Given the description of an element on the screen output the (x, y) to click on. 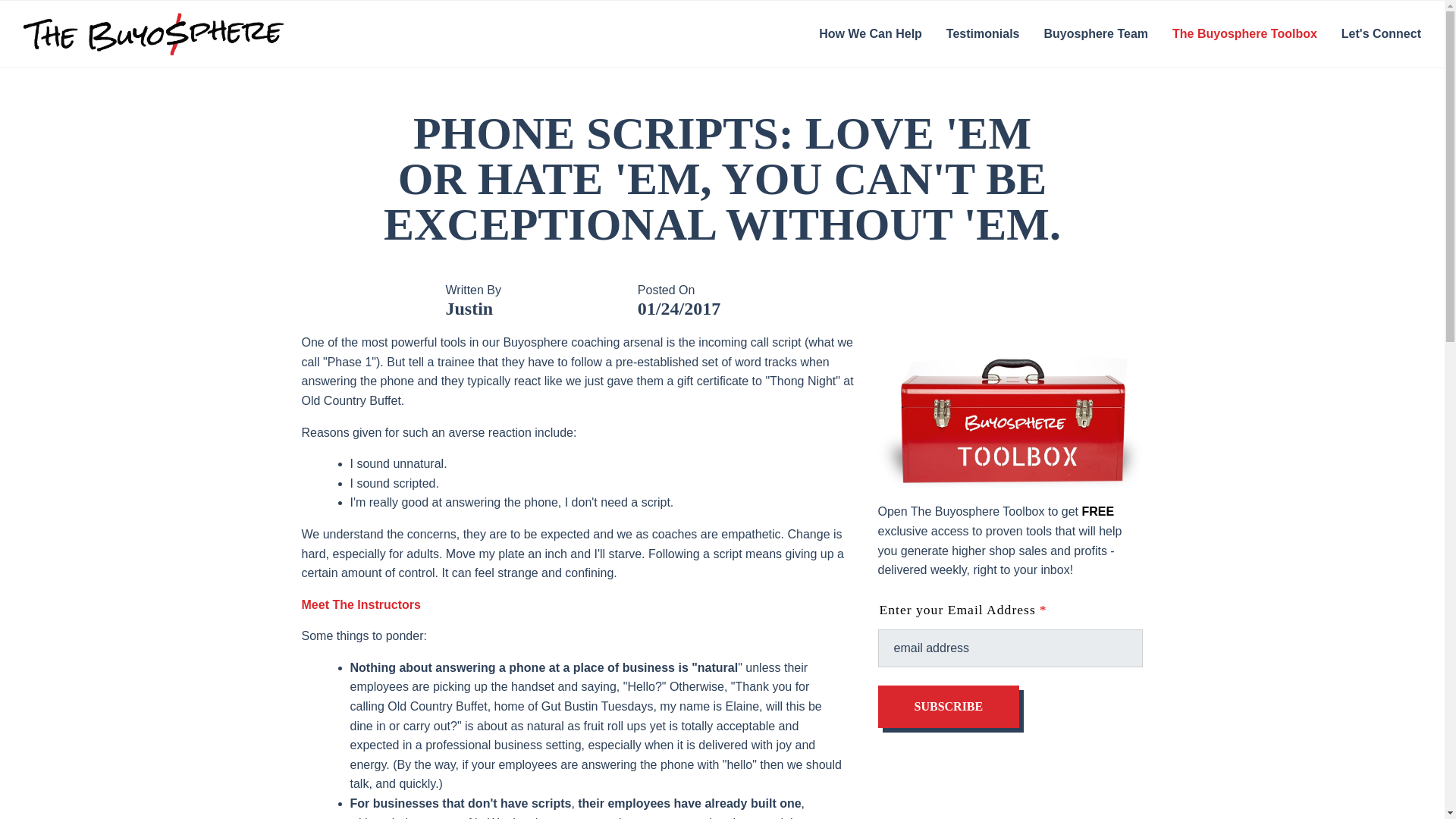
SUBSCRIBE (948, 706)
How We Can Help (870, 34)
Buyosphere Team (1095, 34)
The Buyosphere Toolbox (1244, 34)
Meet The Instructors (360, 604)
Let's Connect (1380, 34)
Testimonials (983, 34)
